Given the description of an element on the screen output the (x, y) to click on. 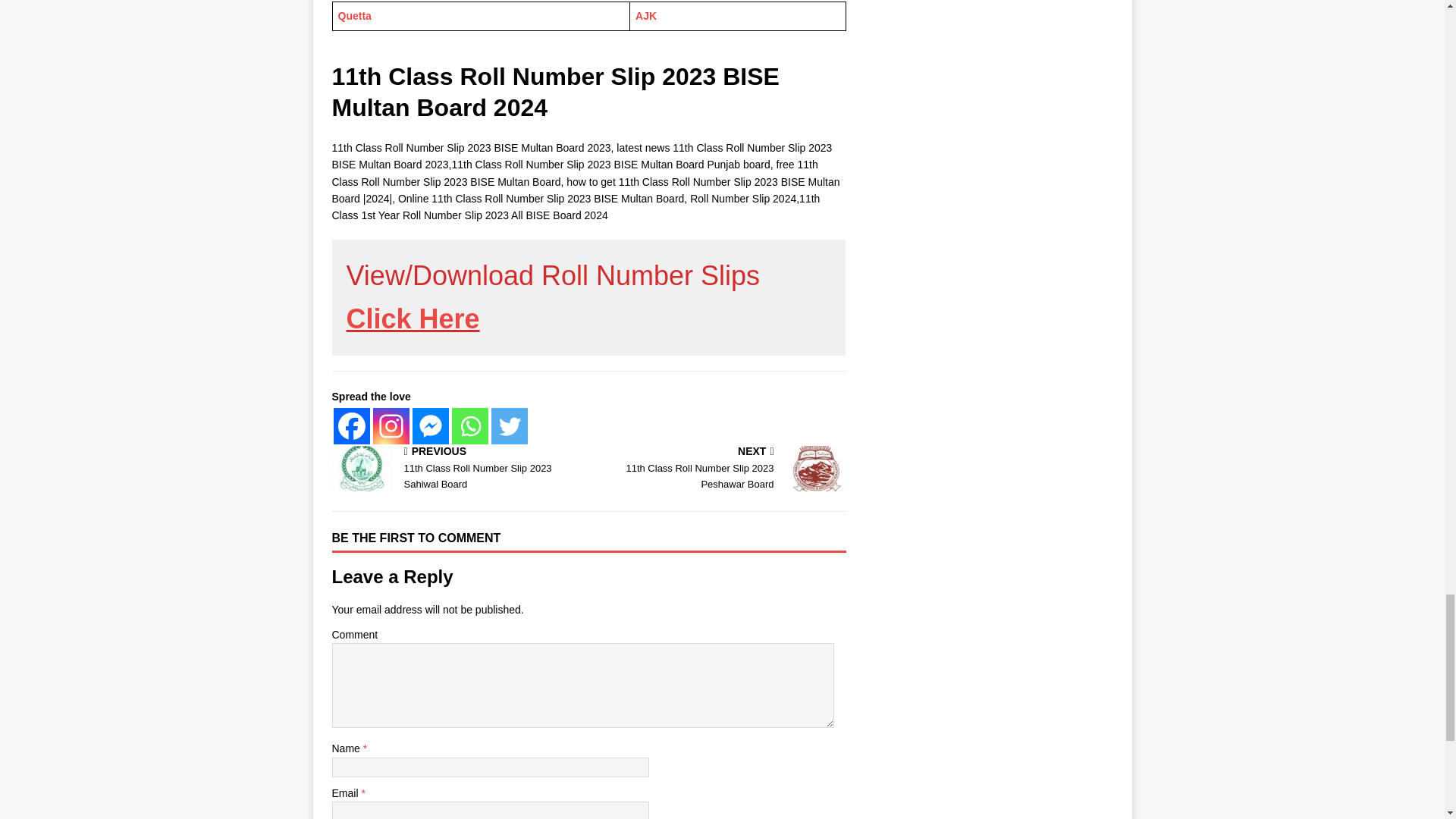
Instagram (390, 425)
Twitter (509, 425)
Facebook (351, 425)
Whatsapp (469, 425)
